Given the description of an element on the screen output the (x, y) to click on. 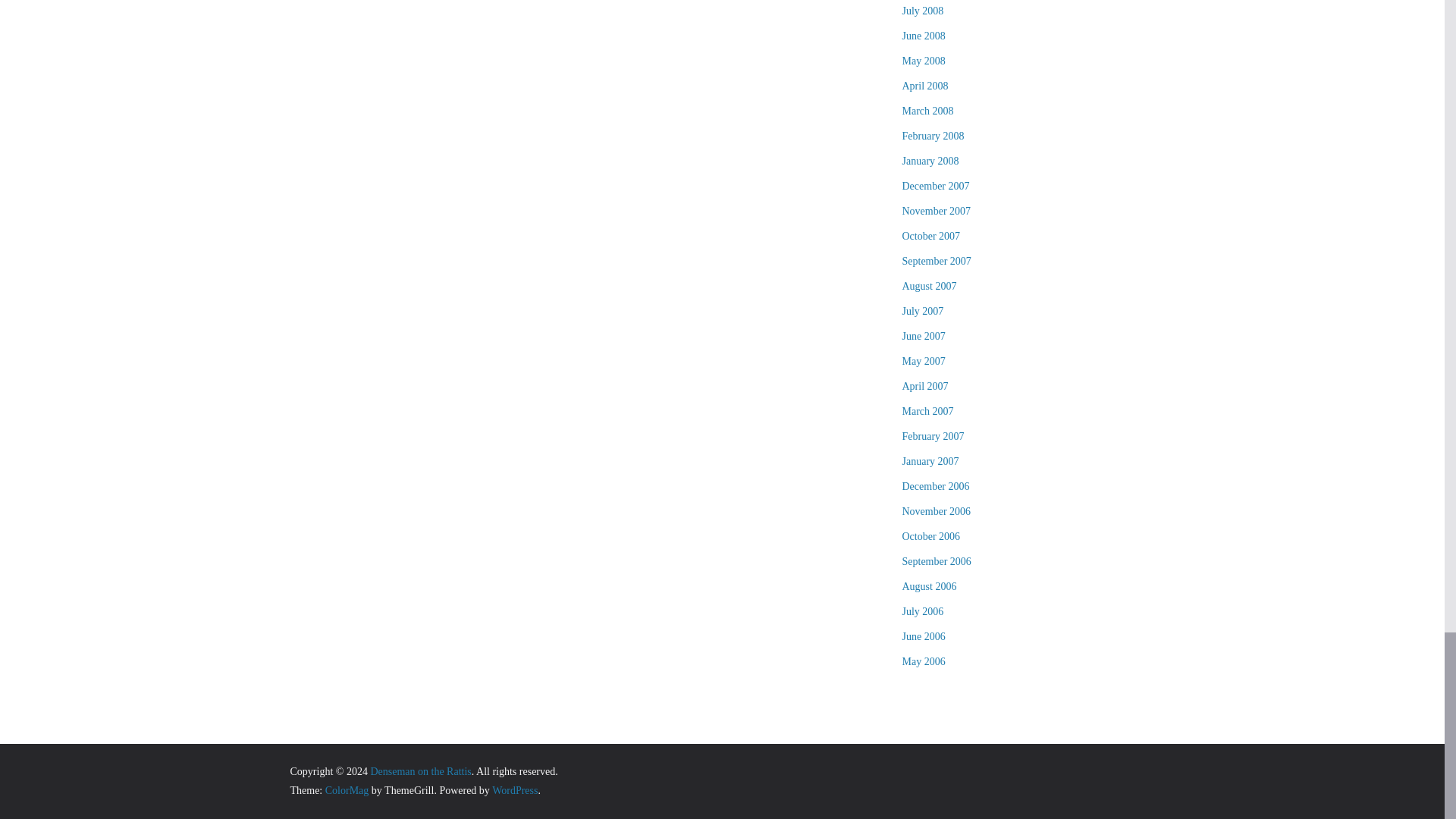
WordPress (514, 790)
ColorMag (346, 790)
Denseman on the Rattis (419, 771)
